Given the description of an element on the screen output the (x, y) to click on. 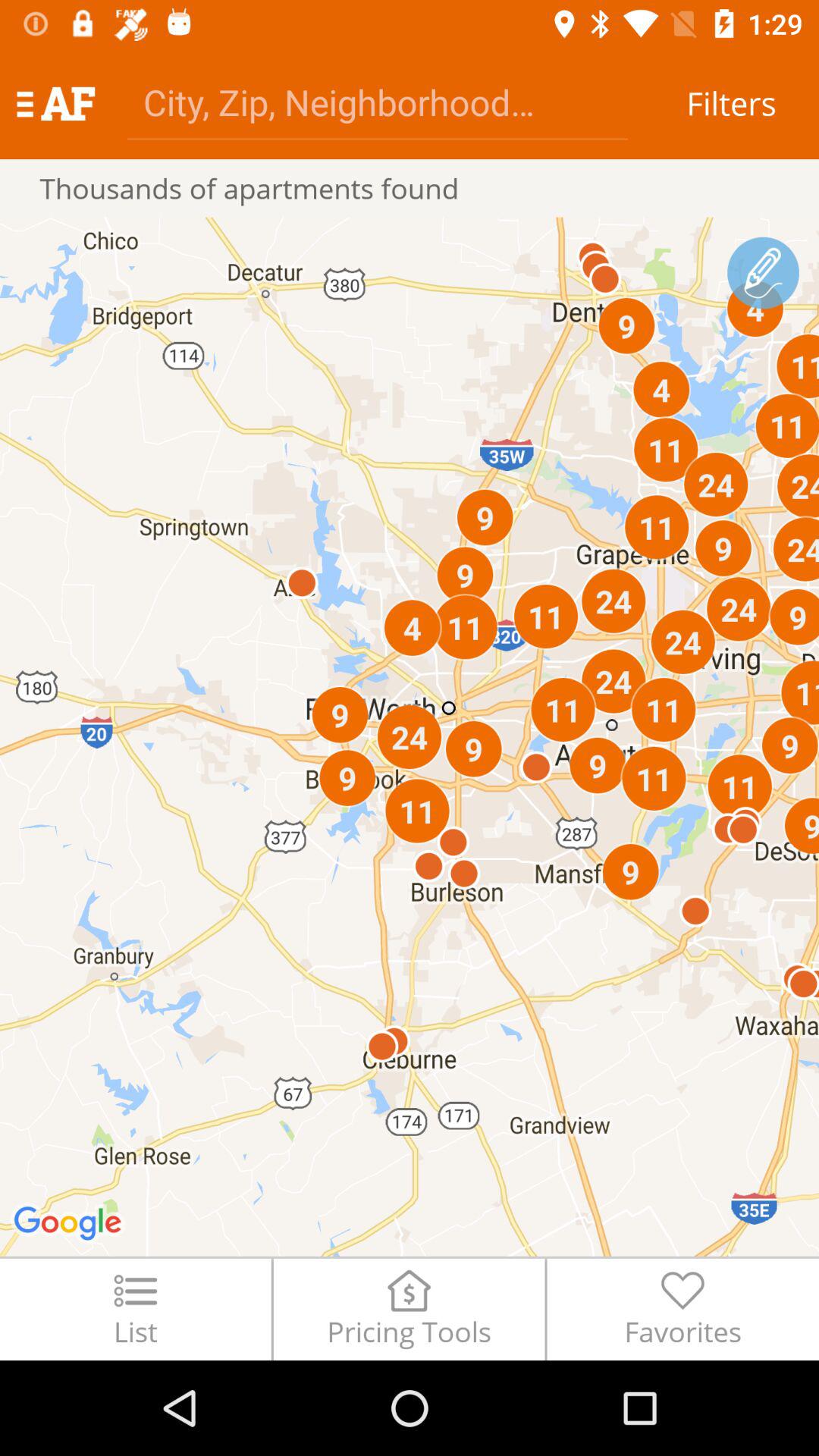
press item next to filters item (377, 102)
